Given the description of an element on the screen output the (x, y) to click on. 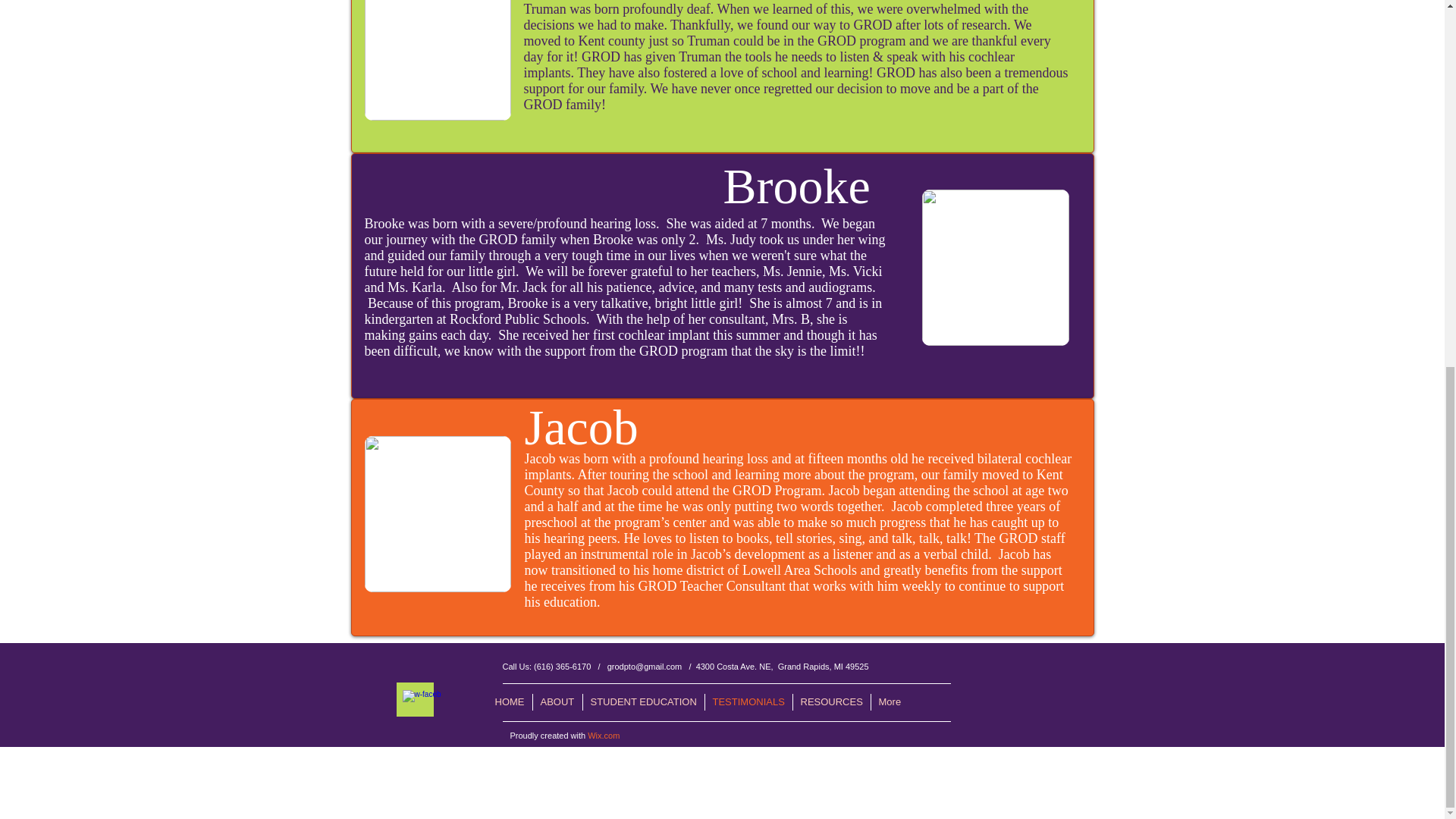
TESTIMONIALS (747, 701)
RESOURCES (830, 701)
ABOUT (557, 701)
HOME (508, 701)
Wix.com (604, 735)
STUDENT EDUCATION (643, 701)
